Given the description of an element on the screen output the (x, y) to click on. 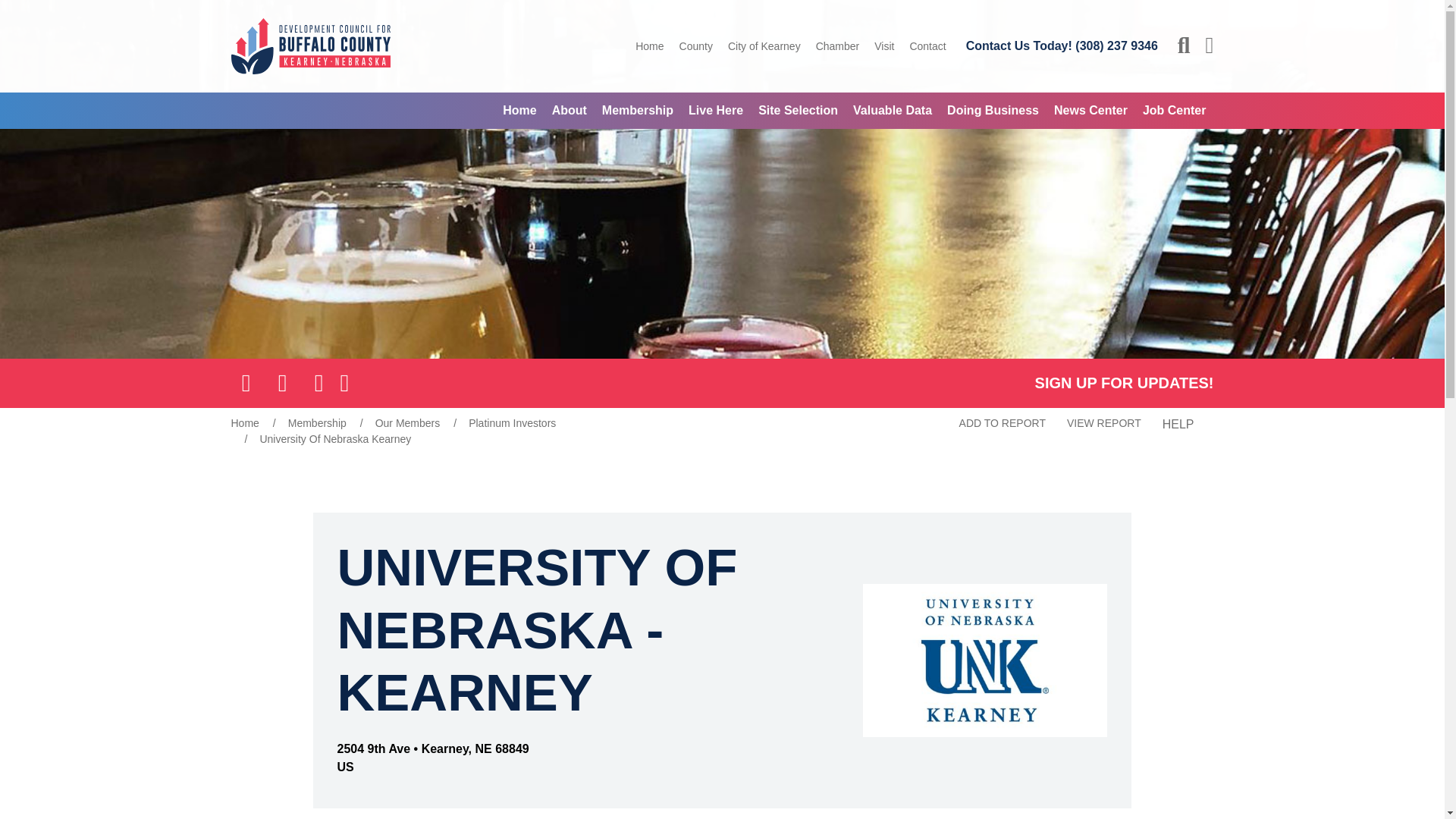
Chamber (837, 46)
City of Kearney (764, 46)
Home (648, 46)
County (696, 46)
Home (519, 110)
Membership (637, 110)
About (569, 110)
Contact (926, 46)
Live Here (716, 110)
Site Selection (798, 110)
